Given the description of an element on the screen output the (x, y) to click on. 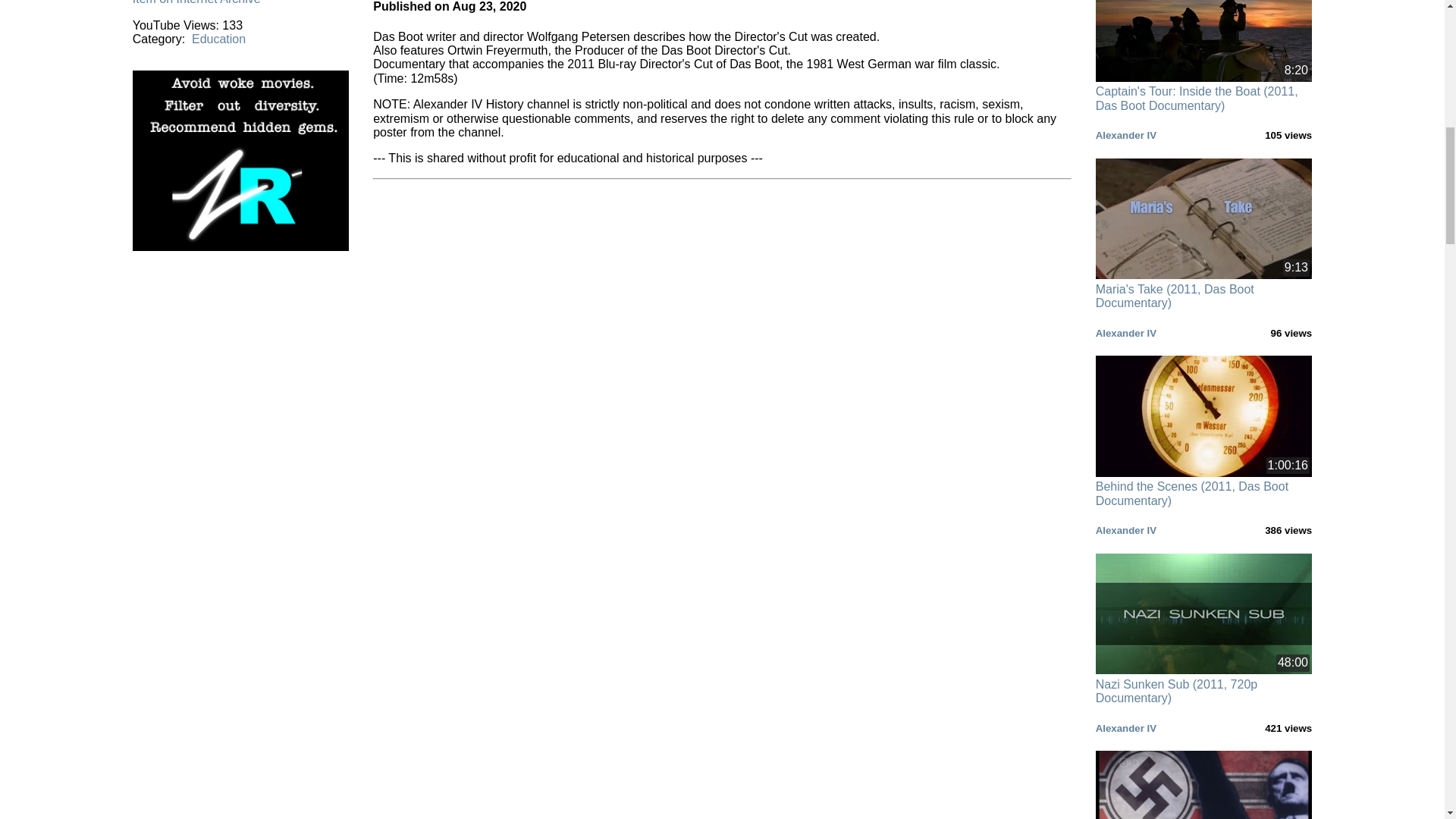
Item on Internet Archive (196, 2)
Education (219, 38)
Alexander IV (1126, 333)
Alexander IV (1126, 530)
Alexander IV (1126, 134)
Alexander IV (1126, 727)
